Given the description of an element on the screen output the (x, y) to click on. 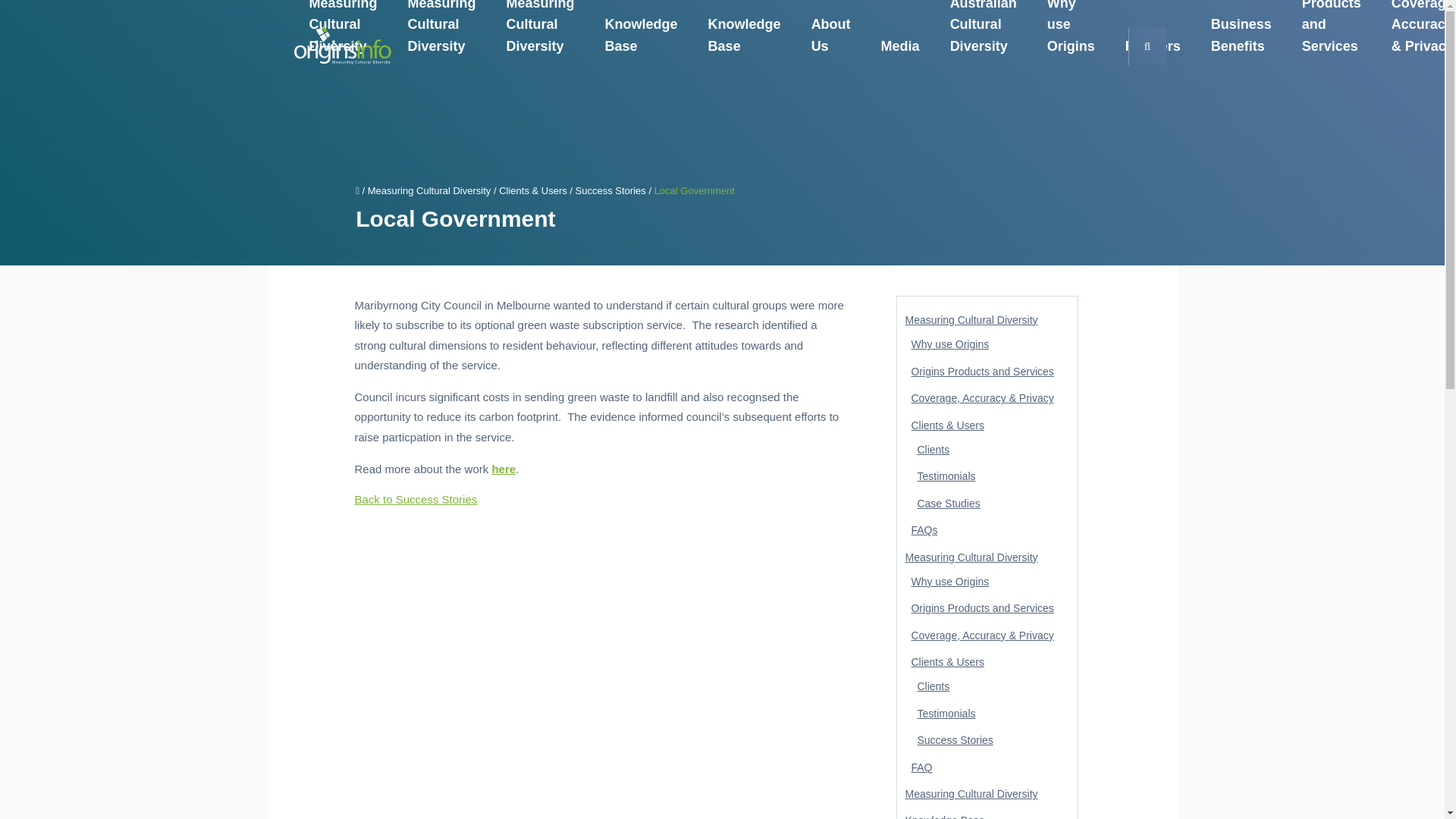
Measuring Cultural Diversity (442, 32)
Measuring Cultural Diversity (343, 32)
